Given the description of an element on the screen output the (x, y) to click on. 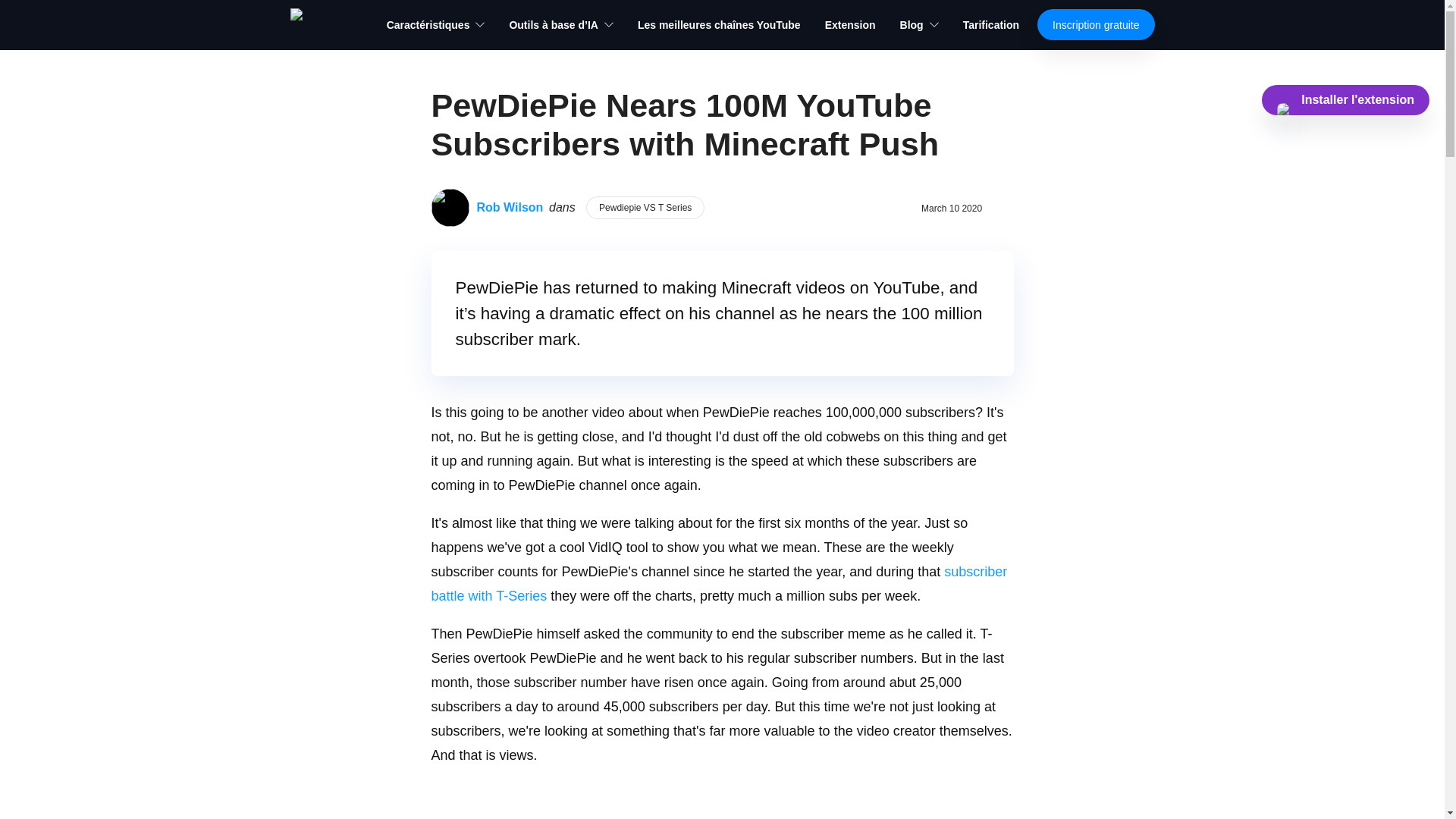
Inscription gratuite (1095, 24)
Inscription gratuite (1095, 24)
Extension (850, 24)
Blog (919, 24)
Tarification (990, 24)
